Given the description of an element on the screen output the (x, y) to click on. 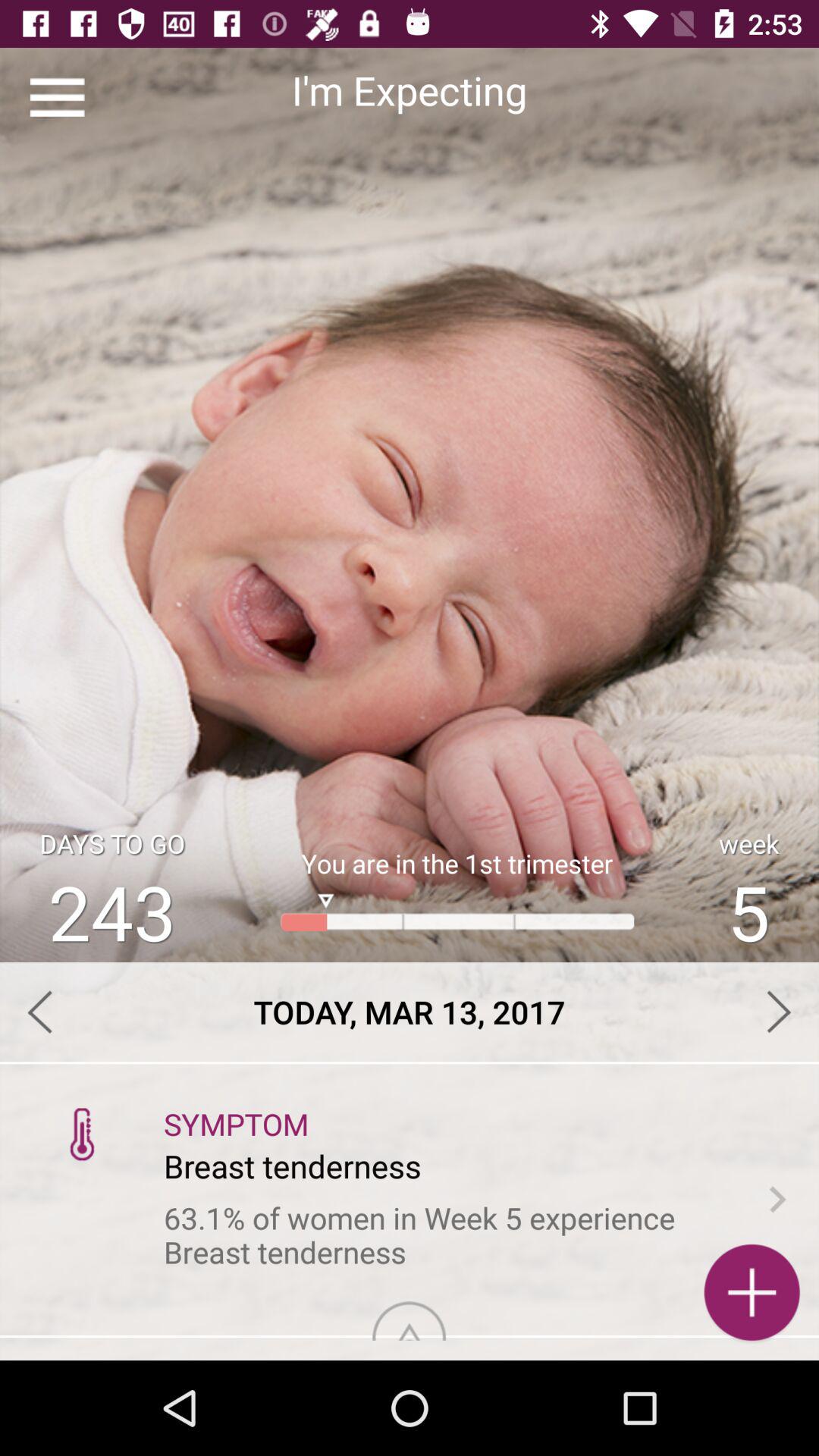
turn off the item to the left of the i'm expecting app (57, 96)
